Given the description of an element on the screen output the (x, y) to click on. 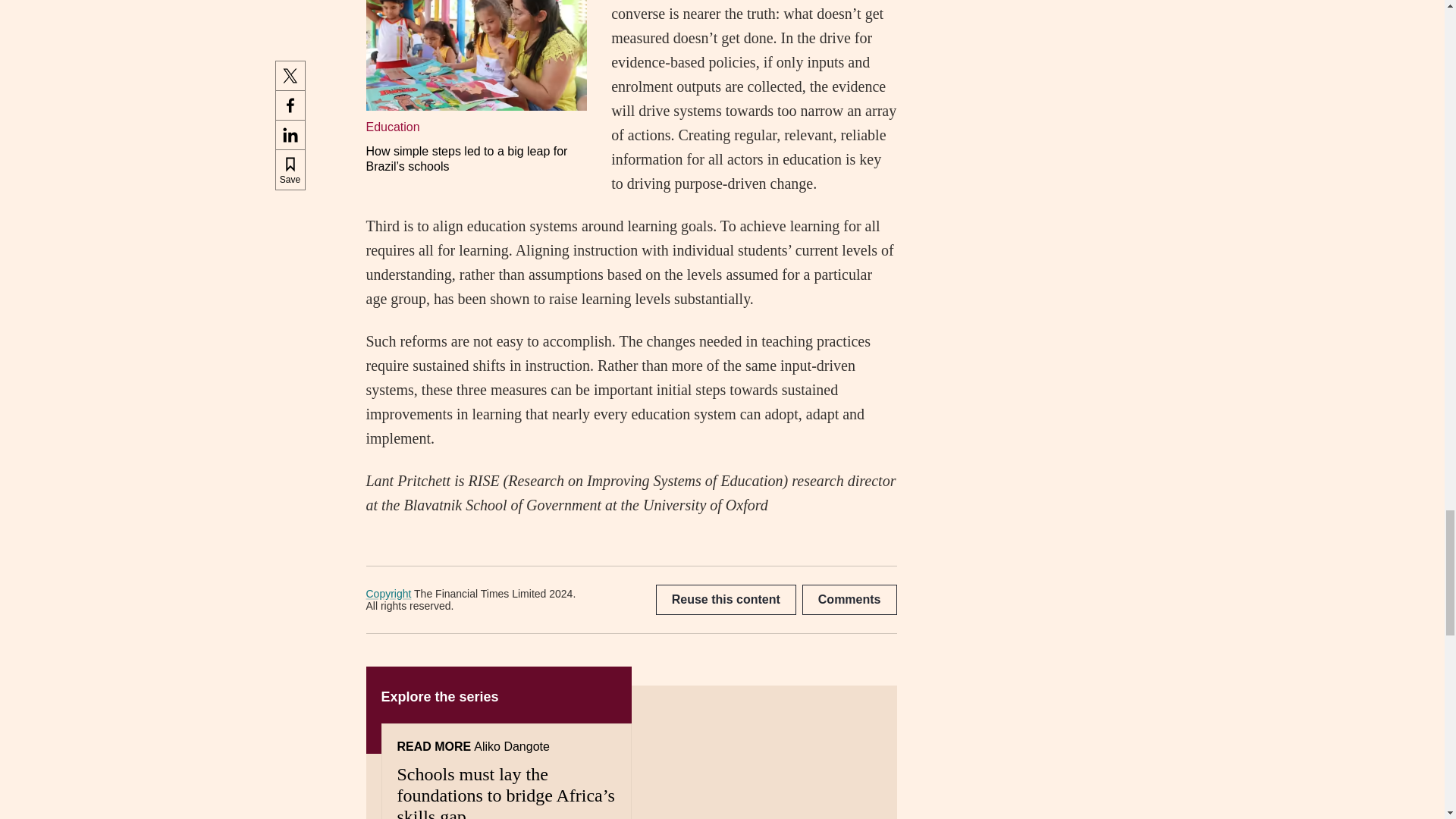
Jump to comments section (849, 599)
